Given the description of an element on the screen output the (x, y) to click on. 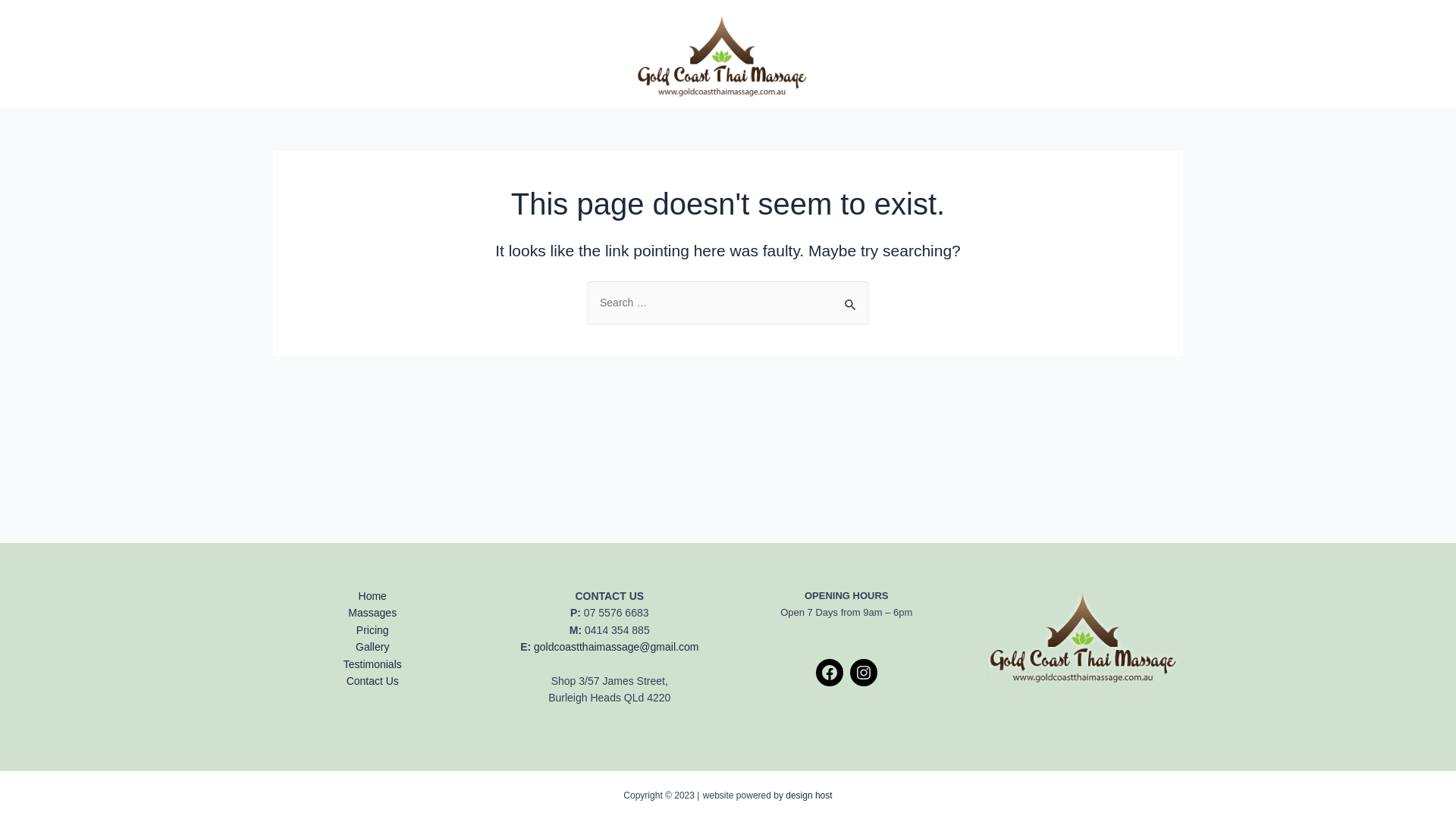
Instagram Element type: text (863, 672)
CONTACT US Element type: text (969, 53)
TESTIMONIALS Element type: text (883, 53)
PRICING Element type: text (430, 53)
MASSAGES Element type: text (361, 53)
Home Element type: text (372, 595)
GALLERY Element type: text (492, 53)
Search Element type: text (851, 297)
goldcoastthaimassage@gmail.com Element type: text (615, 646)
design host Element type: text (808, 795)
Facebook Element type: text (829, 672)
Massages Element type: text (372, 612)
Pricing Element type: text (372, 630)
Testimonials Element type: text (372, 664)
Contact Us Element type: text (372, 680)
Gallery Element type: text (372, 646)
HOME Element type: text (298, 53)
